Given the description of an element on the screen output the (x, y) to click on. 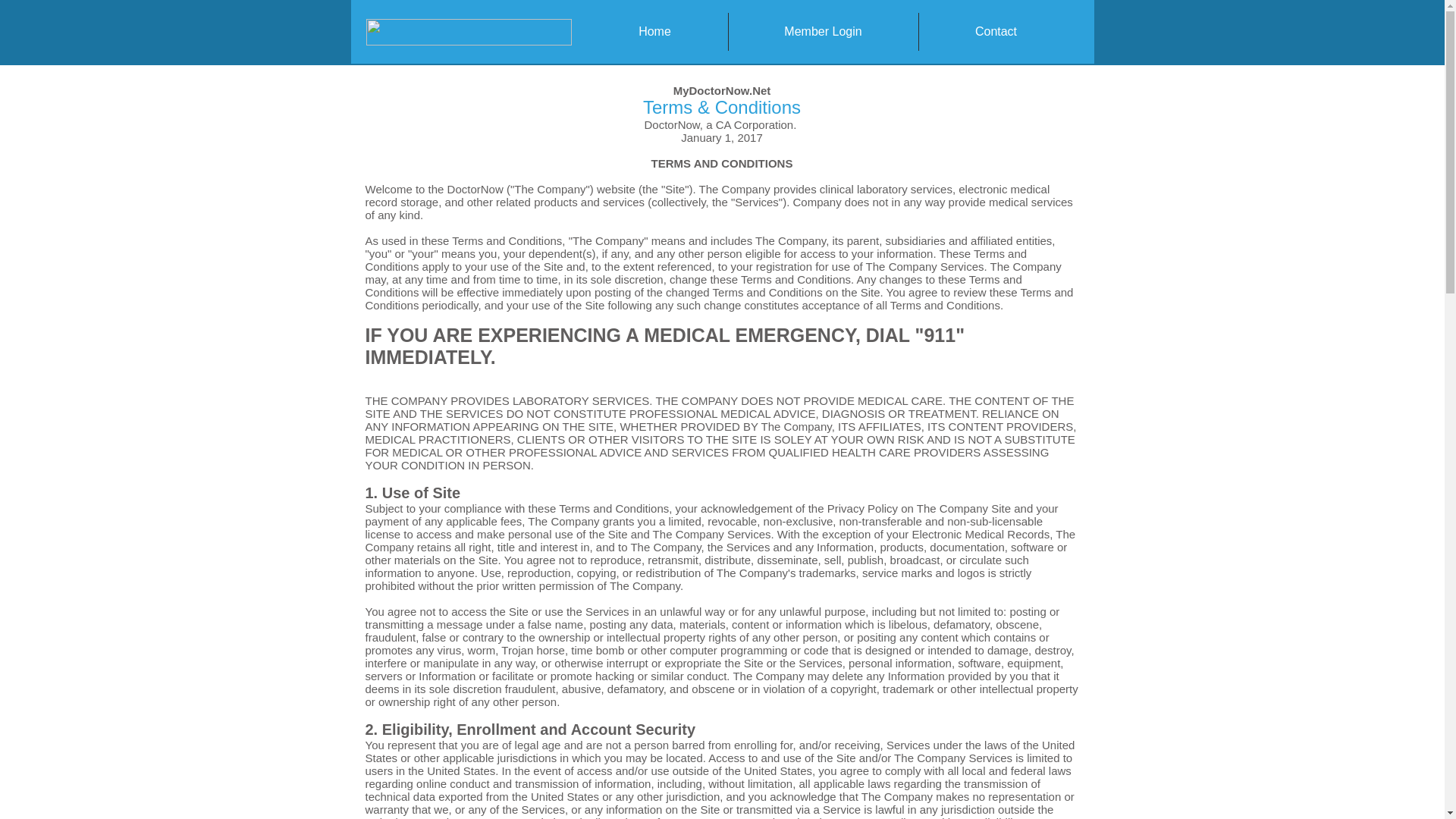
Contact (996, 31)
Member Login (822, 31)
Home (655, 31)
